Given the description of an element on the screen output the (x, y) to click on. 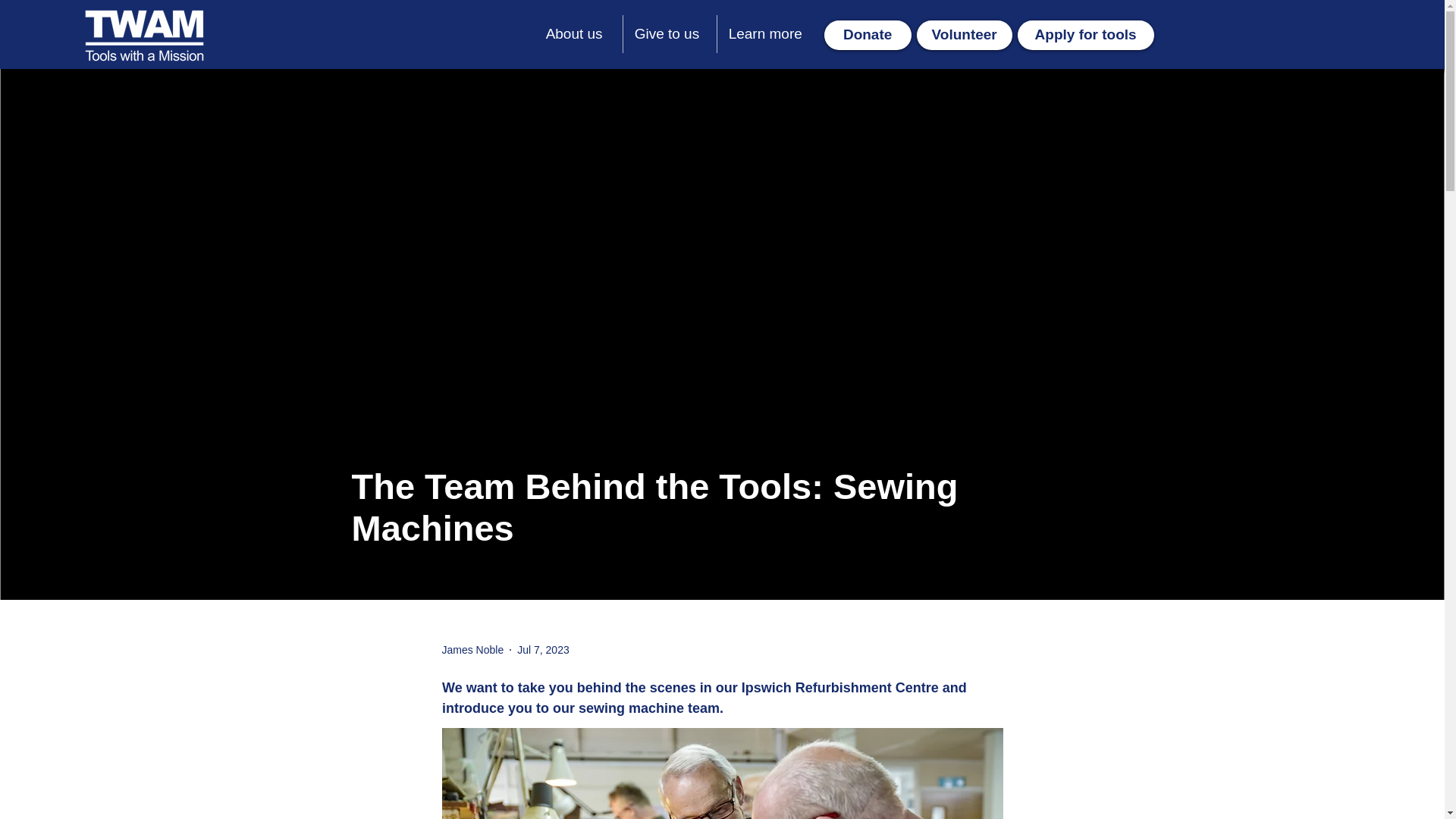
Jul 7, 2023 (542, 648)
Apply for tools (1085, 34)
Volunteer (964, 34)
James Noble (472, 649)
James Noble (472, 649)
Donate (867, 34)
